Given the description of an element on the screen output the (x, y) to click on. 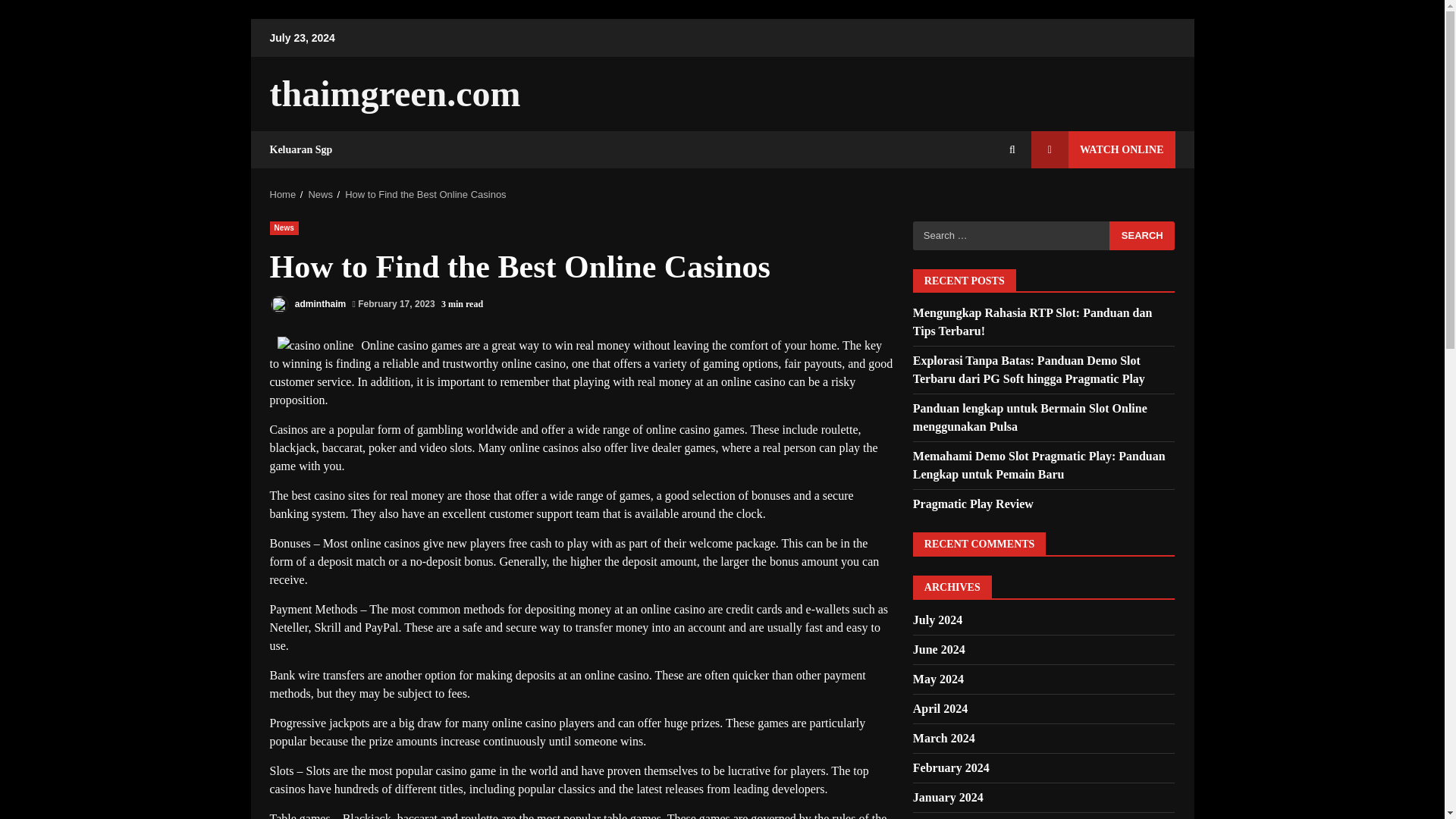
News (284, 228)
March 2024 (943, 738)
adminthaim (307, 303)
Keluaran Sgp (301, 149)
July 2024 (937, 619)
Home (283, 194)
May 2024 (937, 678)
April 2024 (940, 707)
Pragmatic Play Review (972, 503)
WATCH ONLINE (1102, 149)
Search (1011, 149)
February 2024 (951, 767)
thaimgreen.com (395, 93)
